Given the description of an element on the screen output the (x, y) to click on. 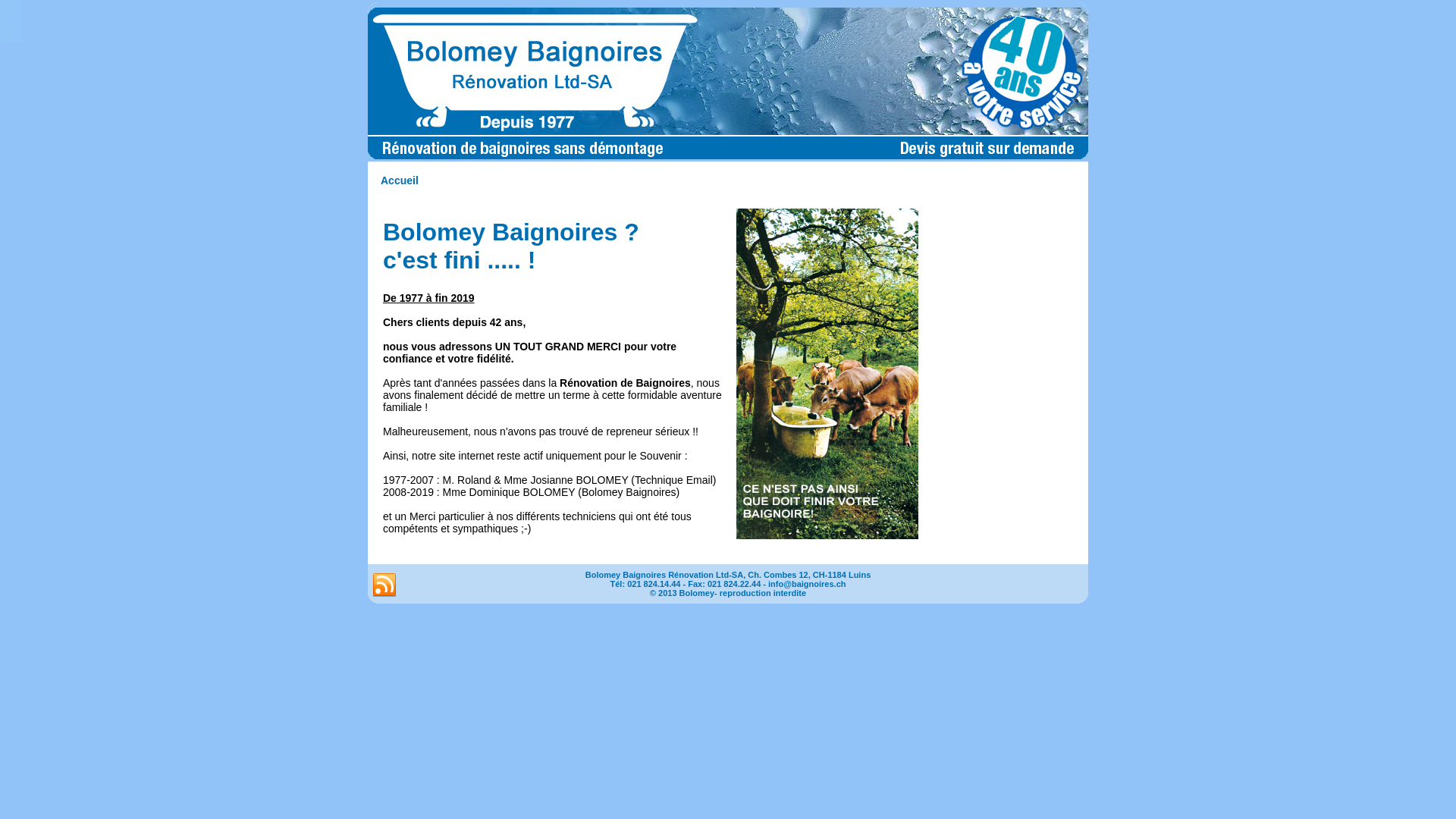
RSS Element type: hover (384, 585)
info@baignoires.ch Element type: text (806, 583)
Votre baignoire ? Element type: hover (827, 373)
